Given the description of an element on the screen output the (x, y) to click on. 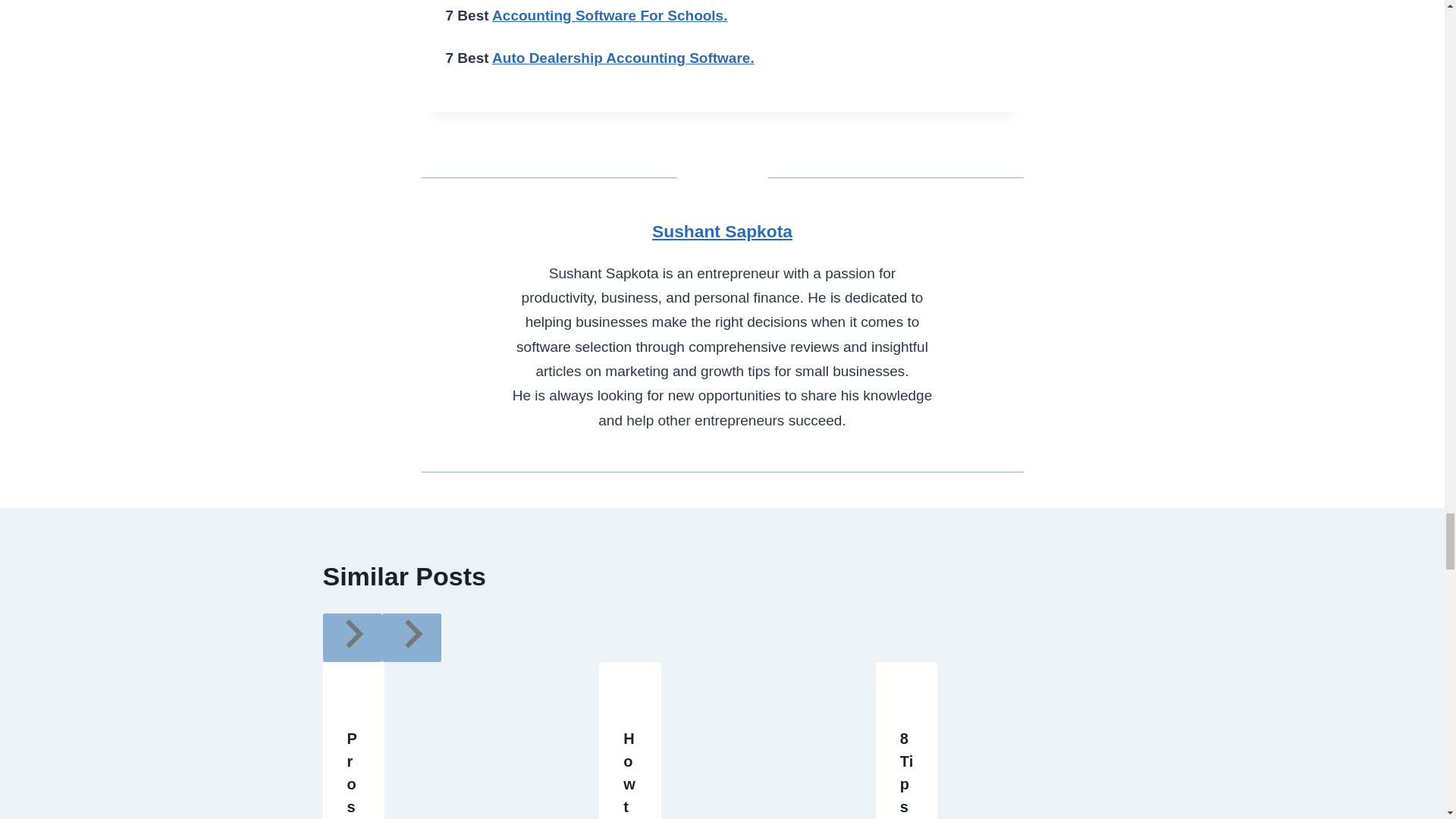
Sushant Sapkota (722, 230)
Auto Dealership Accounting Software. (623, 57)
Posts by Sushant Sapkota (722, 230)
Accounting Software For Schools. (609, 15)
